Given the description of an element on the screen output the (x, y) to click on. 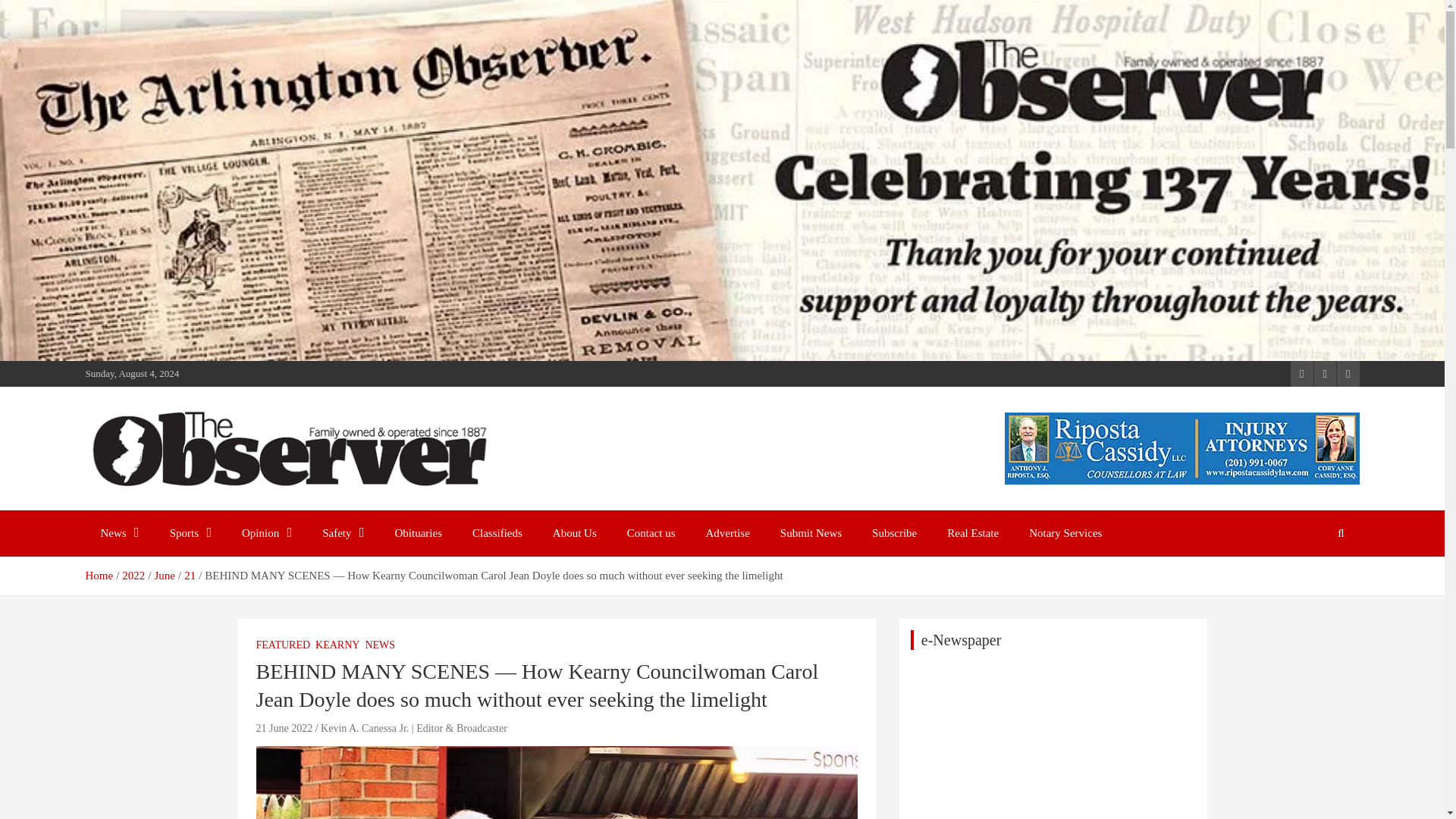
The Observer Online (212, 506)
Safety (342, 533)
Sports (190, 533)
Classifieds (497, 533)
News (119, 533)
Obituaries (418, 533)
Opinion (267, 533)
About Us (574, 533)
